Given the description of an element on the screen output the (x, y) to click on. 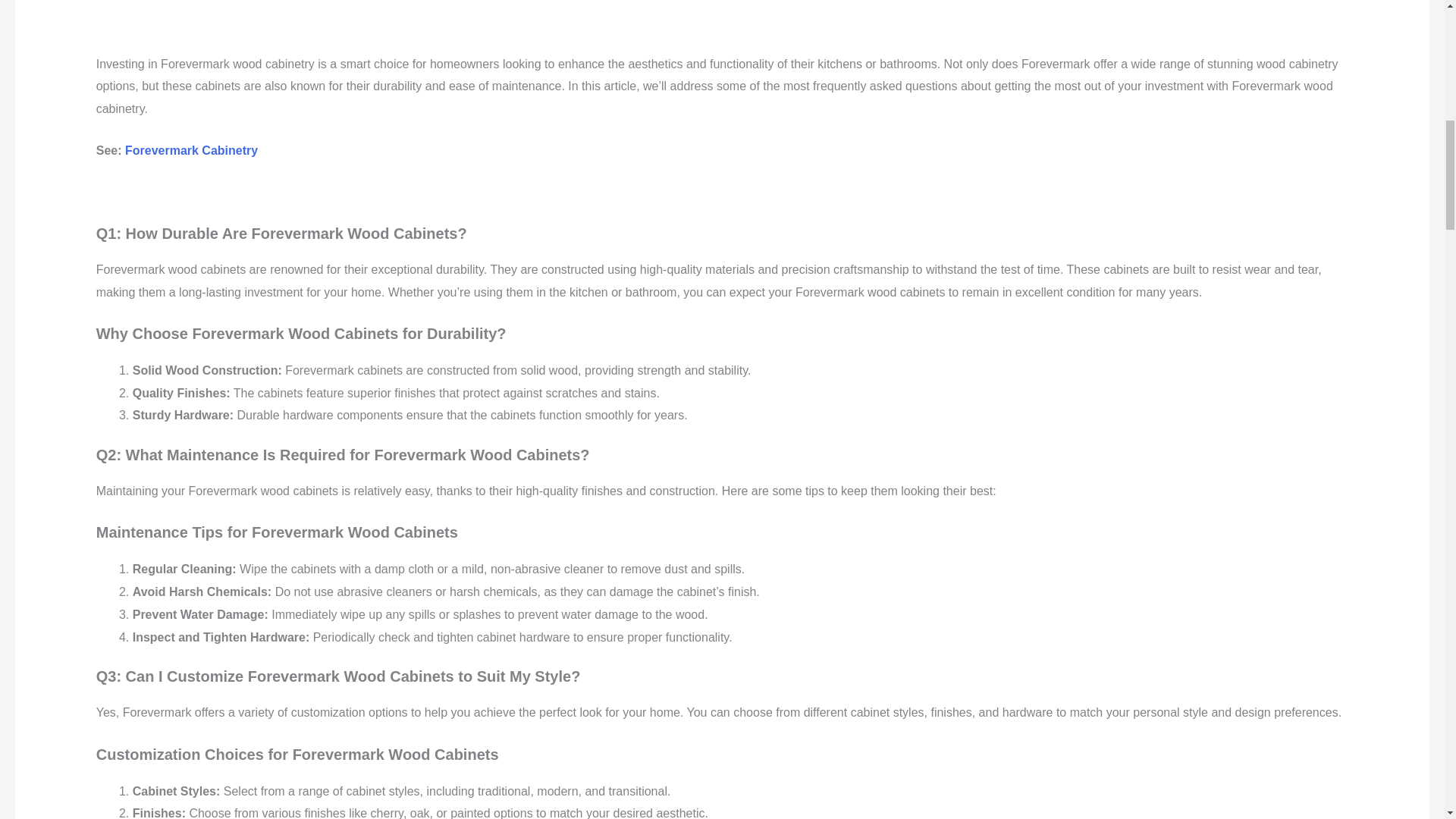
Forevermark Cabinetry  (193, 150)
